Given the description of an element on the screen output the (x, y) to click on. 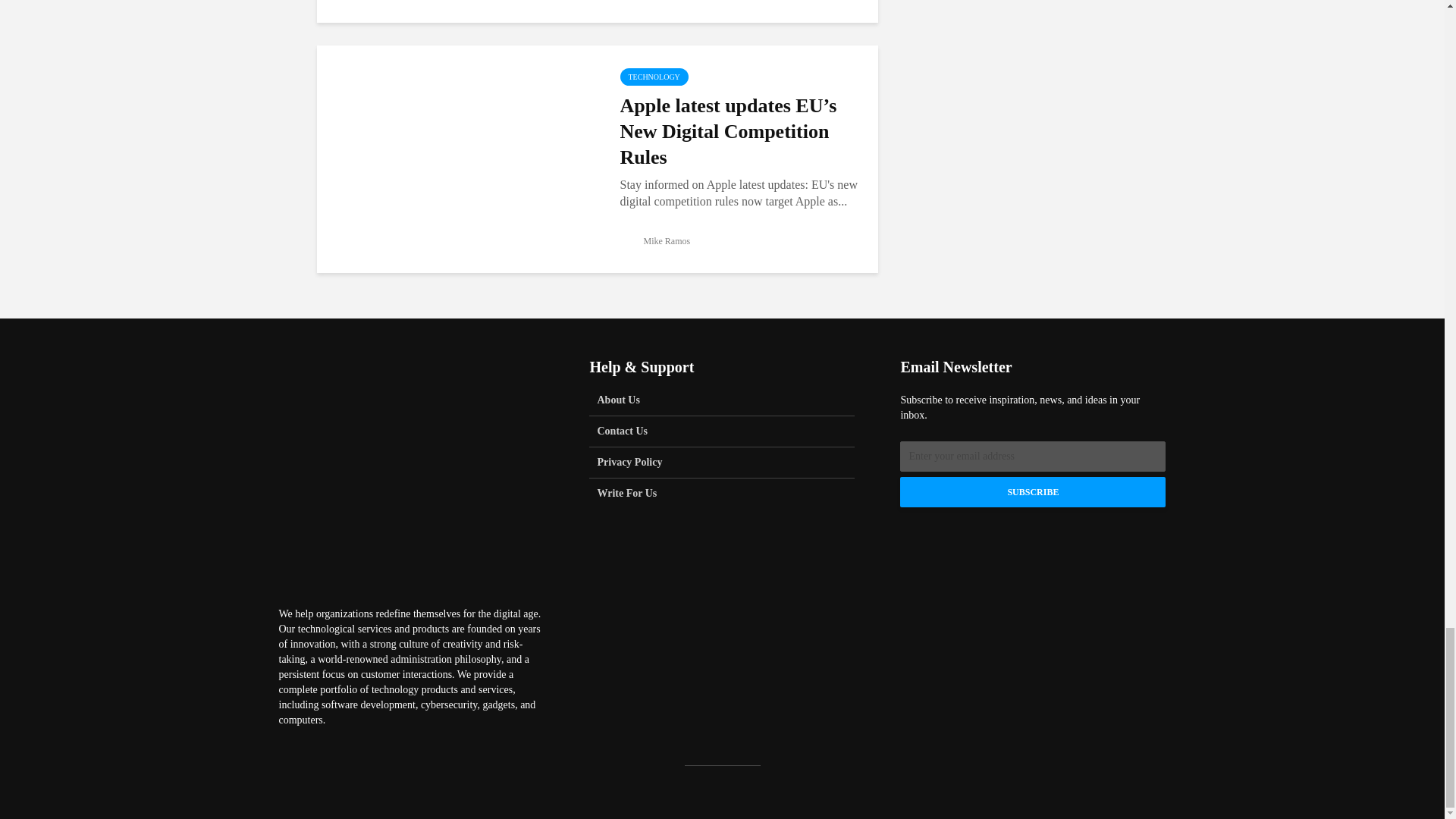
Mike Ramos (655, 240)
Subscribe (1032, 491)
Subscribe (1032, 491)
TECHNOLOGY (654, 76)
